Given the description of an element on the screen output the (x, y) to click on. 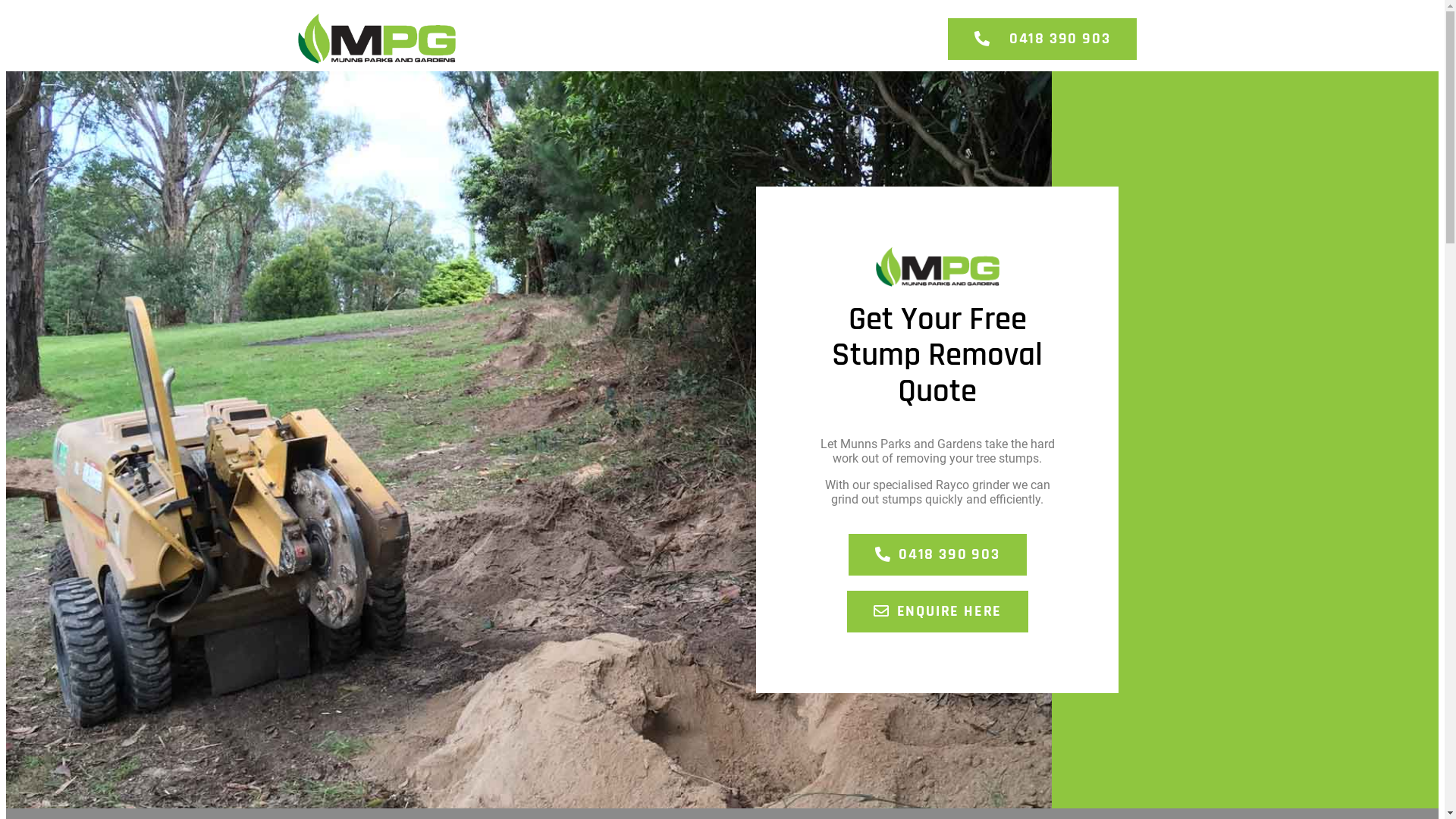
ENQUIRE HERE Element type: text (937, 611)
0418 390 903 Element type: text (1041, 38)
0418 390 903 Element type: text (937, 554)
